Given the description of an element on the screen output the (x, y) to click on. 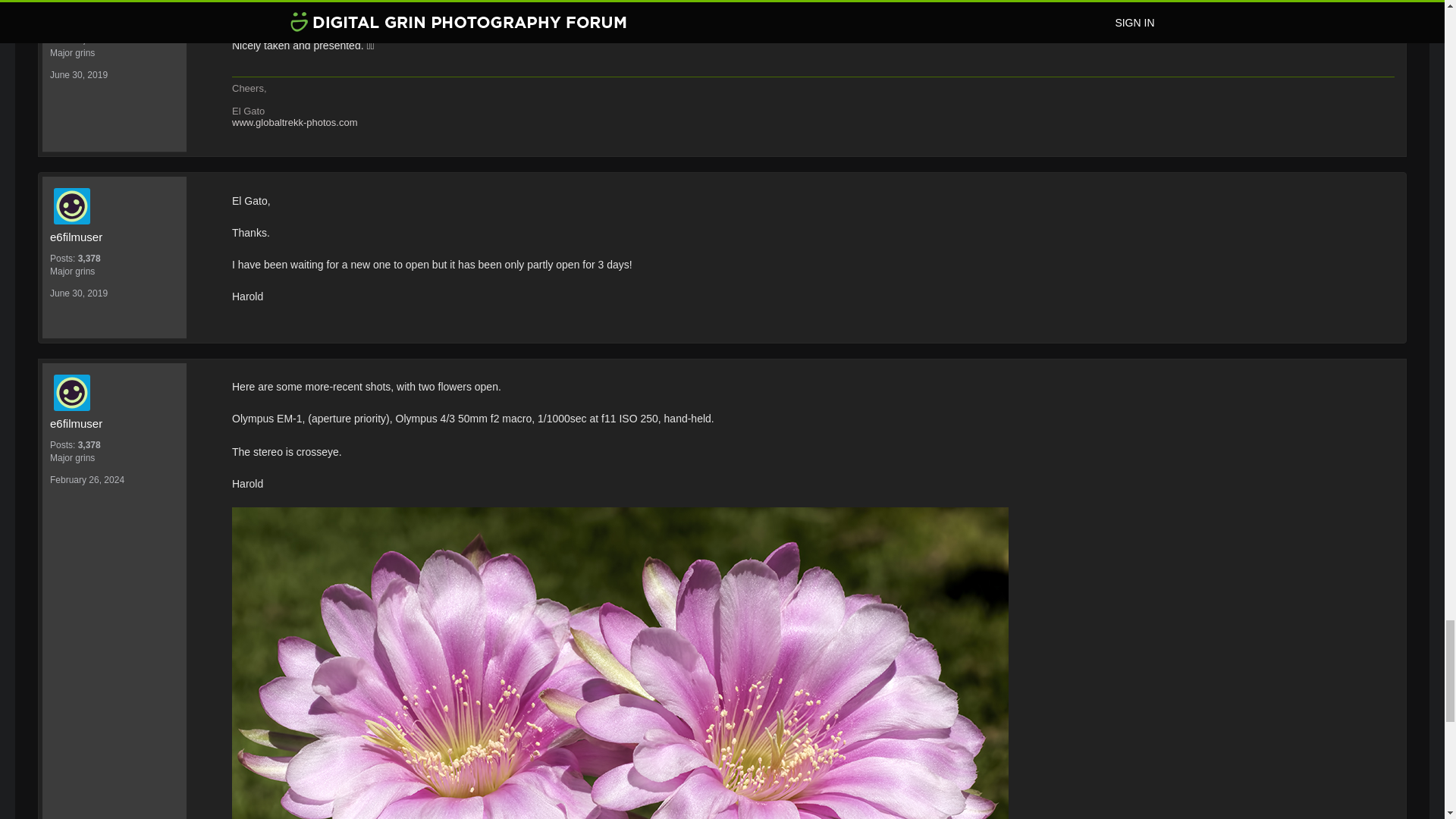
June 30, 2019 (78, 74)
June 30, 2019 7:38PM (78, 293)
e6filmuser (114, 423)
February 26, 2024 (86, 480)
June 30, 2019 4:49PM (78, 74)
Major grins (114, 271)
www.globaltrekk-photos.com (293, 122)
e6filmuser (114, 237)
El Gato (114, 18)
e6filmuser (118, 206)
